Given the description of an element on the screen output the (x, y) to click on. 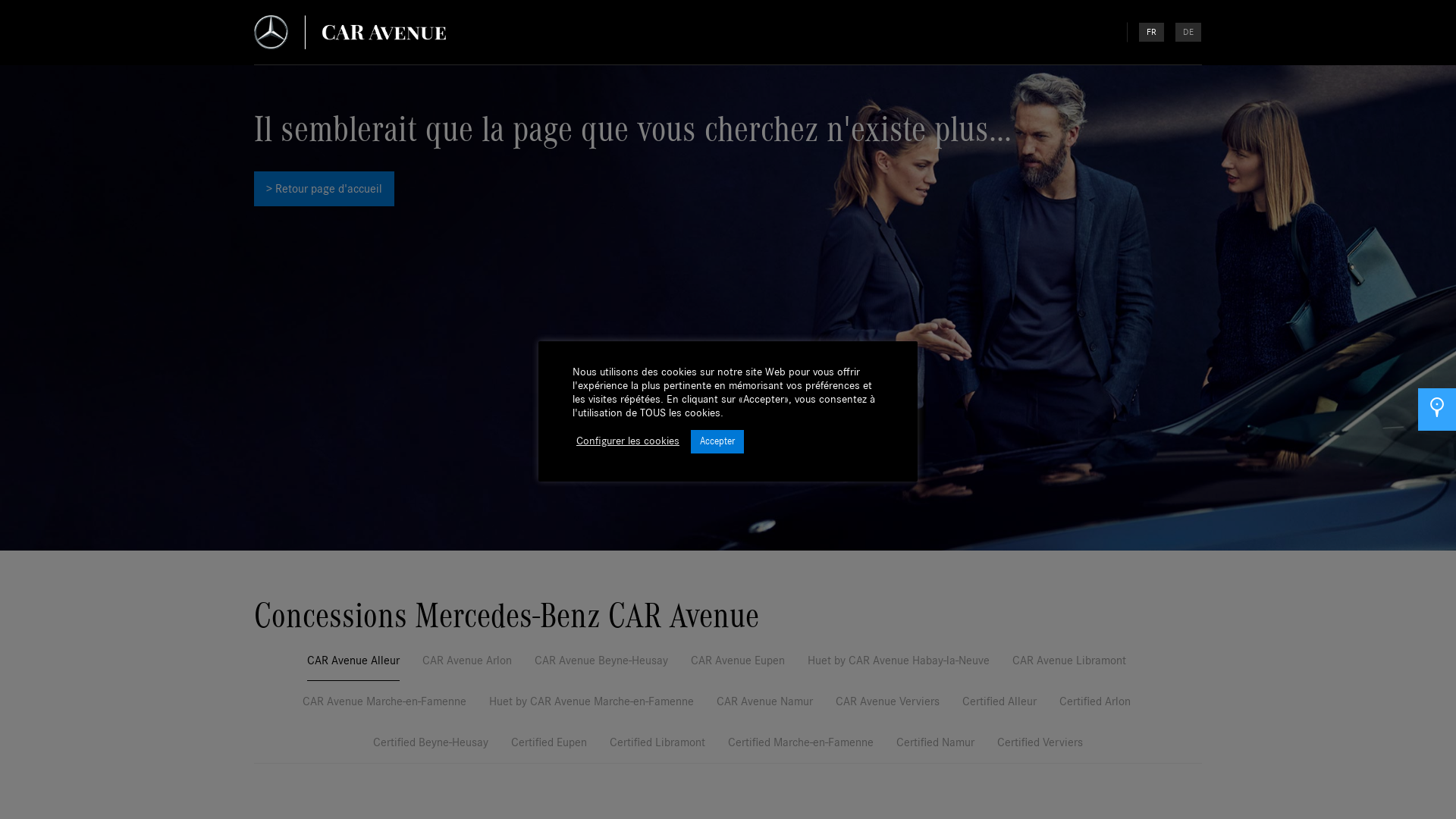
CAR Avenue Marche-en-Famenne Element type: text (384, 706)
CAR Avenue Verviers Element type: text (887, 706)
Certified Verviers Element type: text (1039, 747)
CAR Avenue Arlon Element type: text (466, 665)
> Retour page d'accueil Element type: text (324, 188)
CAR Avenue Alleur Element type: text (353, 665)
Certified Alleur Element type: text (999, 706)
Certified Libramont Element type: text (657, 747)
CAR Avenue Eupen Element type: text (737, 665)
Huet by CAR Avenue Marche-en-Famenne Element type: text (591, 706)
DE Element type: text (1188, 31)
Configurer les cookies Element type: text (627, 441)
CAR Avenue Beyne-Heusay Element type: text (601, 665)
Certified Namur Element type: text (935, 747)
CAR Avenue Namur Element type: text (764, 706)
Certified Eupen Element type: text (548, 747)
Certified Marche-en-Famenne Element type: text (800, 747)
Certified Arlon Element type: text (1094, 706)
Huet by CAR Avenue Habay-la-Neuve Element type: text (898, 665)
Certified Beyne-Heusay Element type: text (430, 747)
FR Element type: text (1151, 31)
Accepter Element type: text (716, 440)
CAR Avenue Libramont Element type: text (1069, 665)
